Given the description of an element on the screen output the (x, y) to click on. 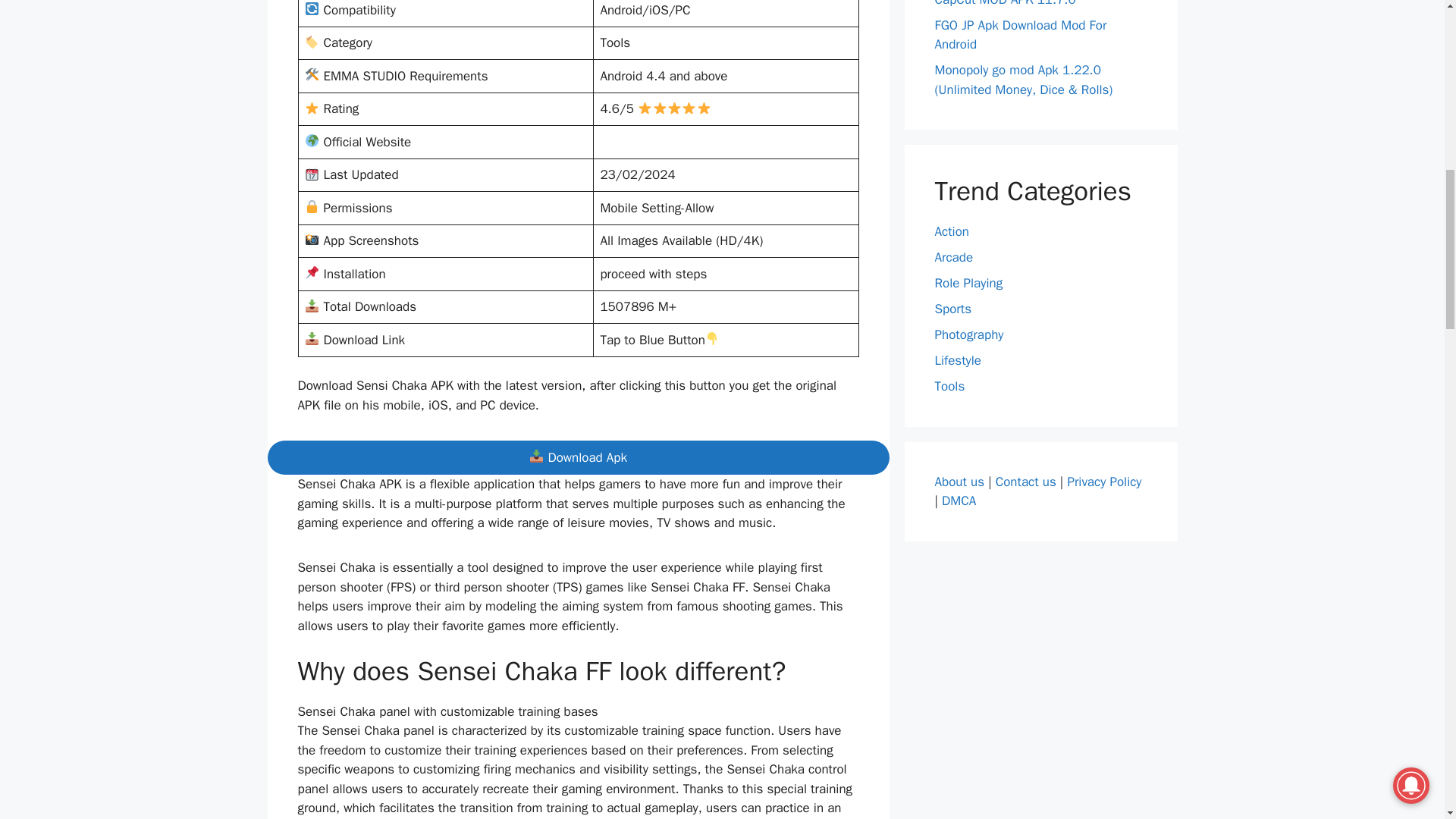
CapCut MOD APK 11.7.0 (1004, 3)
Action (951, 231)
Scroll back to top (1406, 720)
Download Apk (577, 457)
FGO JP Apk Download Mod For Android (1020, 34)
